Given the description of an element on the screen output the (x, y) to click on. 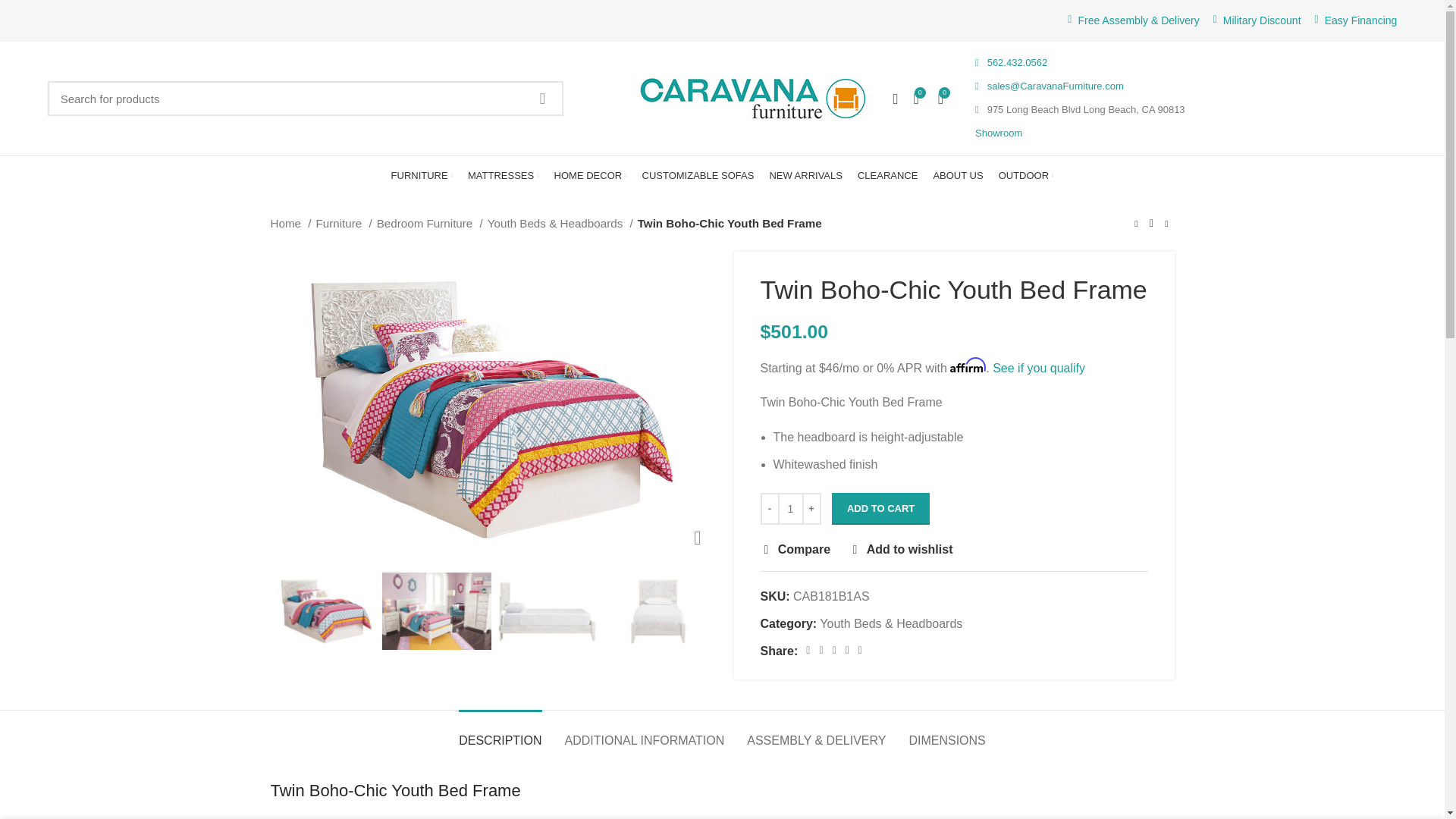
1 (790, 508)
Easy Financing (1360, 20)
Search for products (305, 98)
SEARCH (541, 98)
FURNITURE (422, 175)
Military Discount (1262, 20)
0 (915, 98)
- (769, 508)
   562.432.0562 (1010, 61)
My Wishlist (915, 98)
Showroom (998, 132)
0 (940, 98)
My account (895, 98)
Shopping cart (940, 98)
